Given the description of an element on the screen output the (x, y) to click on. 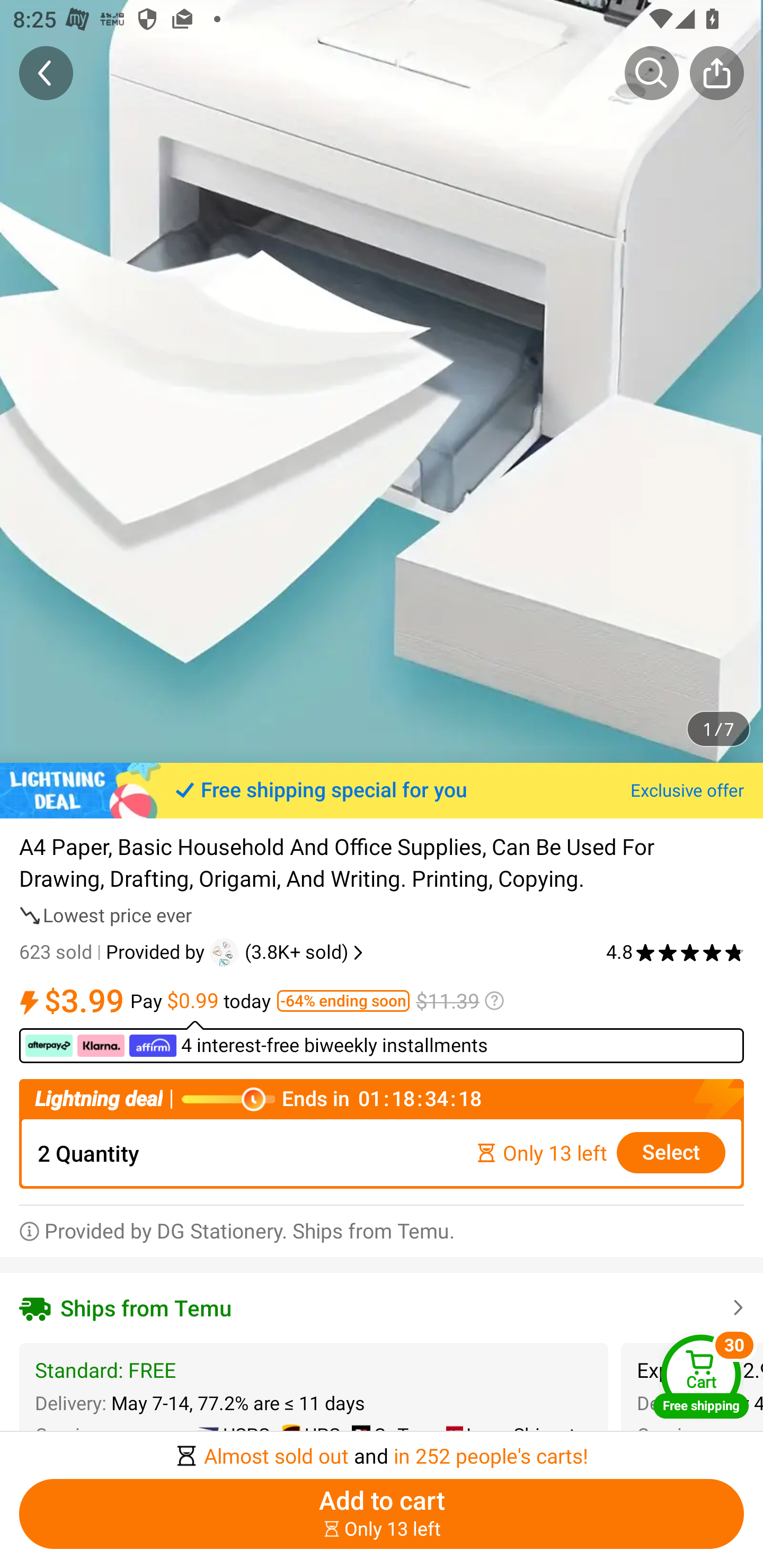
Back (46, 72)
Share (716, 72)
Free shipping special for you Exclusive offer (381, 790)
623 sold Provided by  (114, 952)
4.8 (674, 952)
￼ ￼ ￼ 4 interest-free biweekly installments (381, 1041)
Lightning deal Ends in￼￼ (381, 1098)
2 Quantity   Only 13 left Select (381, 1152)
Select (670, 1152)
Ships from Temu (381, 1307)
Cart Free shipping Cart (701, 1375)
￼￼Almost sold out and in 252 people's carts! (381, 1450)
Add to cart ￼￼Only 13 left (381, 1513)
